Given the description of an element on the screen output the (x, y) to click on. 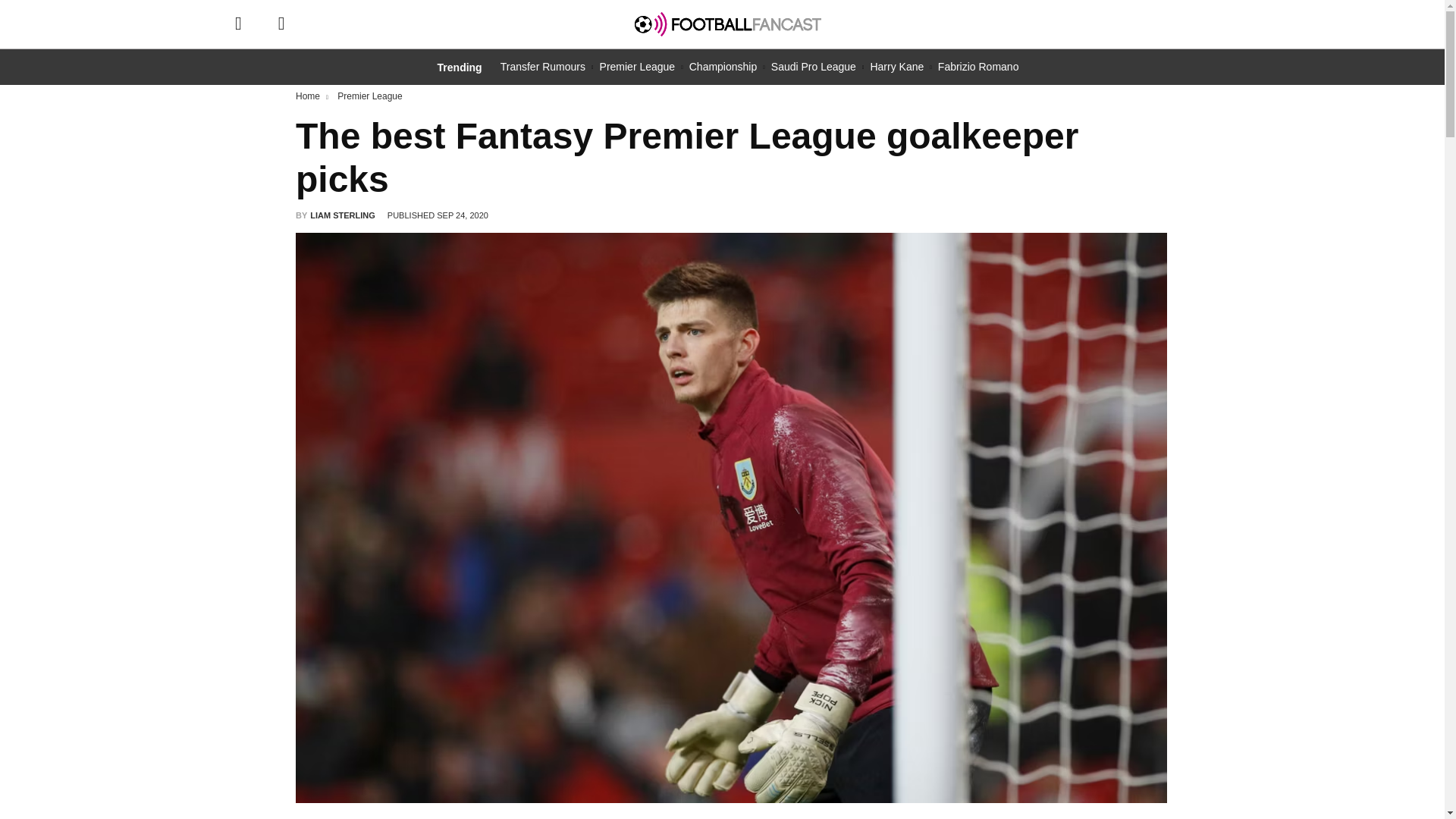
Premier League (637, 66)
Harry Kane (896, 66)
Championship (722, 66)
FootballFanCast (727, 24)
Saudi Pro League (813, 66)
Transfer Rumours (542, 66)
Fabrizio Romano (978, 66)
